Given the description of an element on the screen output the (x, y) to click on. 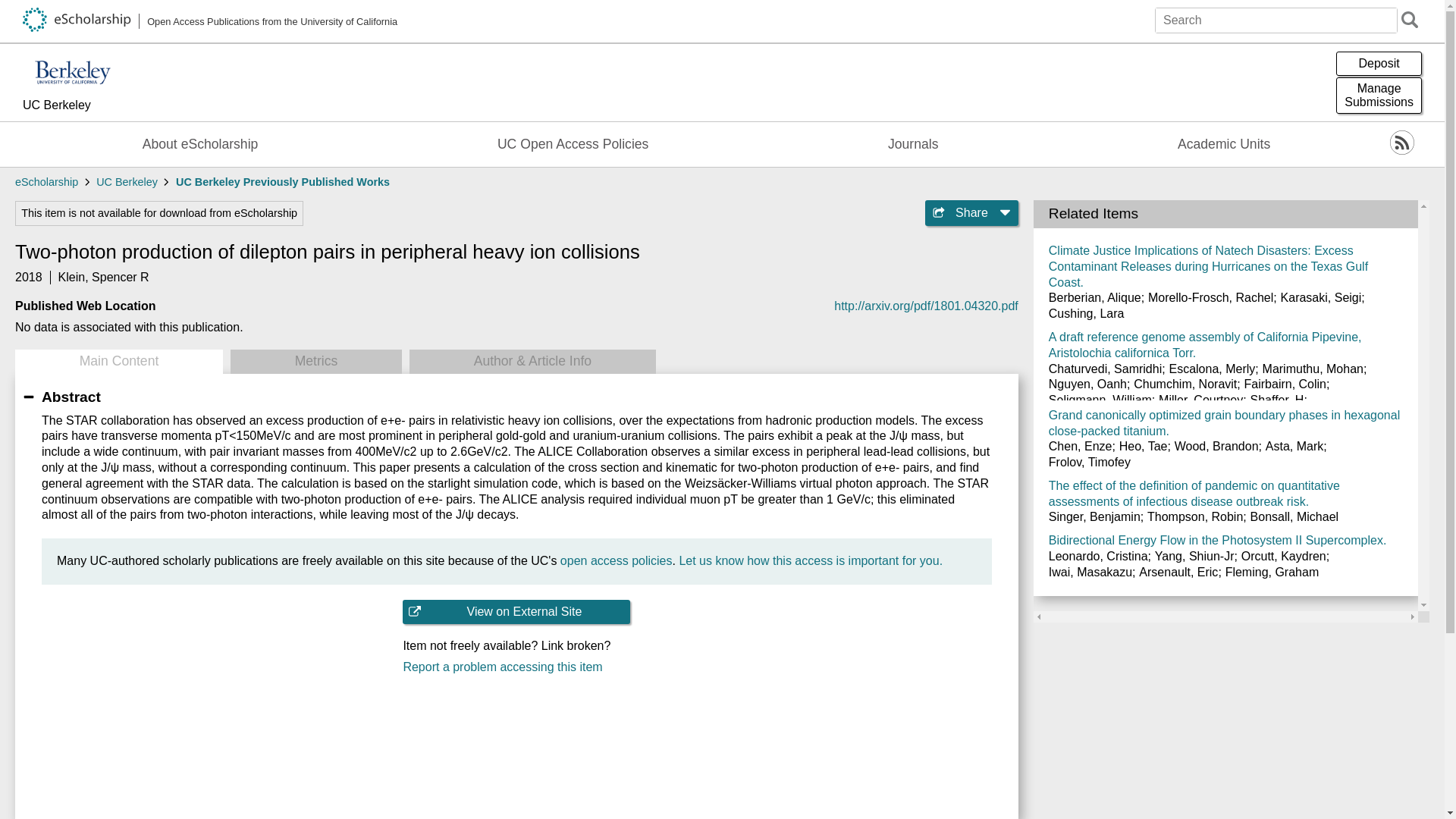
UC Open Access Policies (572, 143)
Klein, Spencer R (1379, 94)
Deposit (103, 277)
eScholarship (1379, 63)
About eScholarship (46, 182)
UC Berkeley Previously Published Works (200, 143)
Marimuthu, Mohan (283, 182)
Berberian, Alique (1312, 368)
UC Berkeley (1094, 297)
